Given the description of an element on the screen output the (x, y) to click on. 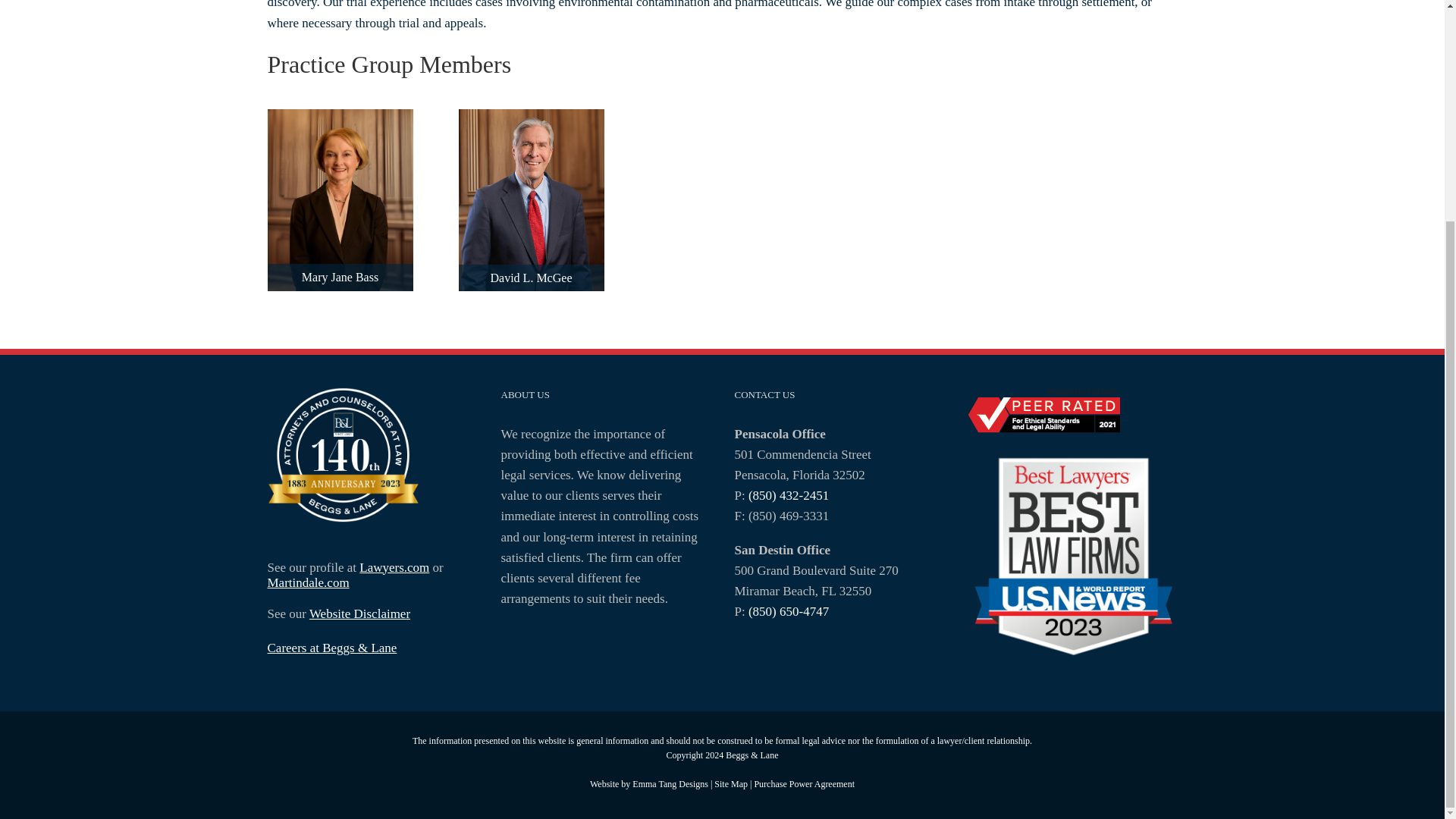
Website Disclaimer (359, 613)
Best Lawyers Best Law Firm U.S. News And World Report 2022 (1072, 556)
Peer Rated For Ethical Standards And Legal Ability 2021 (1043, 410)
Purchase Power Agreement (804, 783)
Lawyers.com (394, 567)
Emma Tang Designs (669, 783)
Martindale.com (307, 582)
Site Map (731, 783)
David L. McGee (531, 119)
Mary Jane Bass (339, 119)
